Given the description of an element on the screen output the (x, y) to click on. 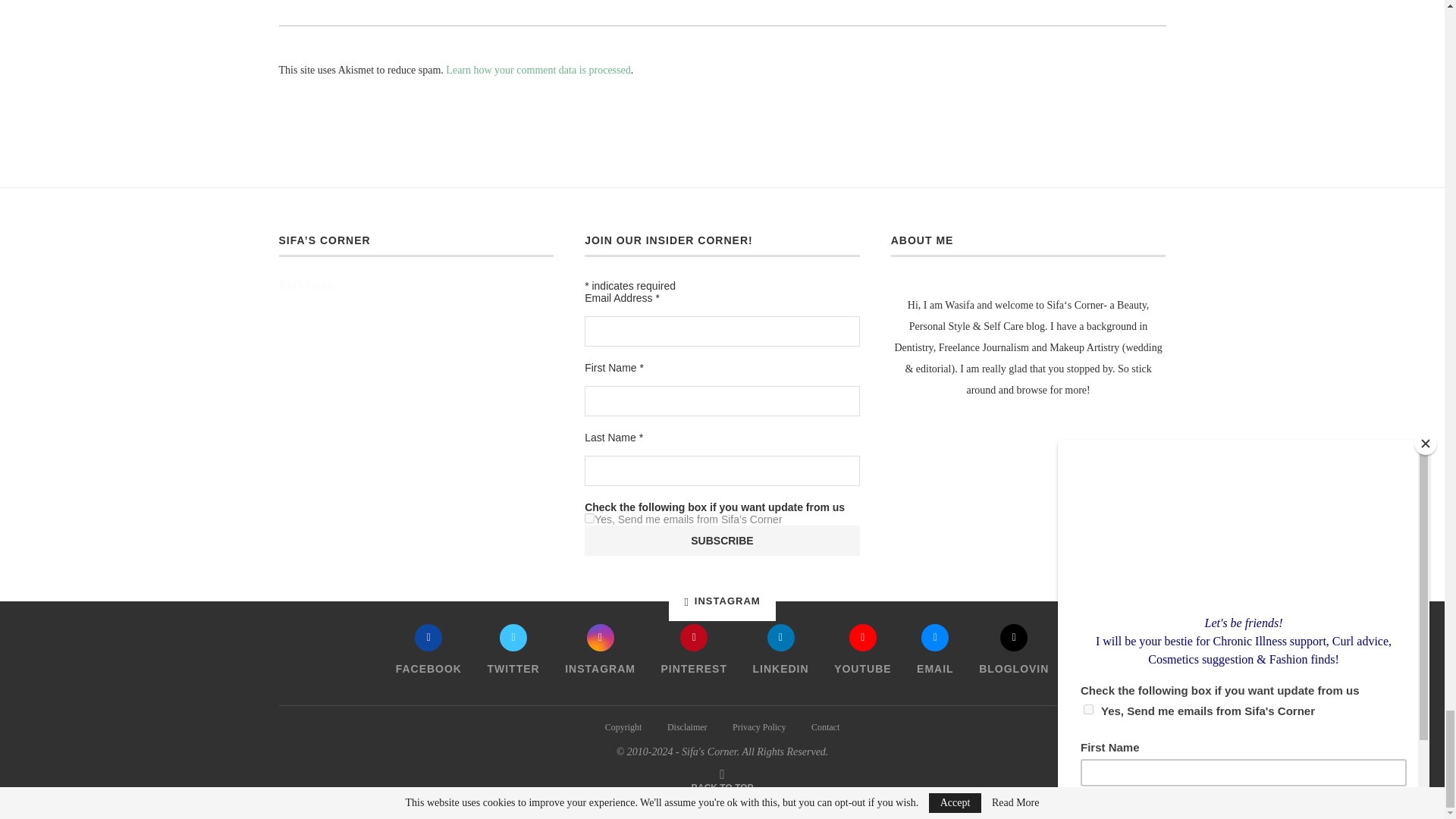
1 (589, 518)
Subscribe (722, 540)
